Given the description of an element on the screen output the (x, y) to click on. 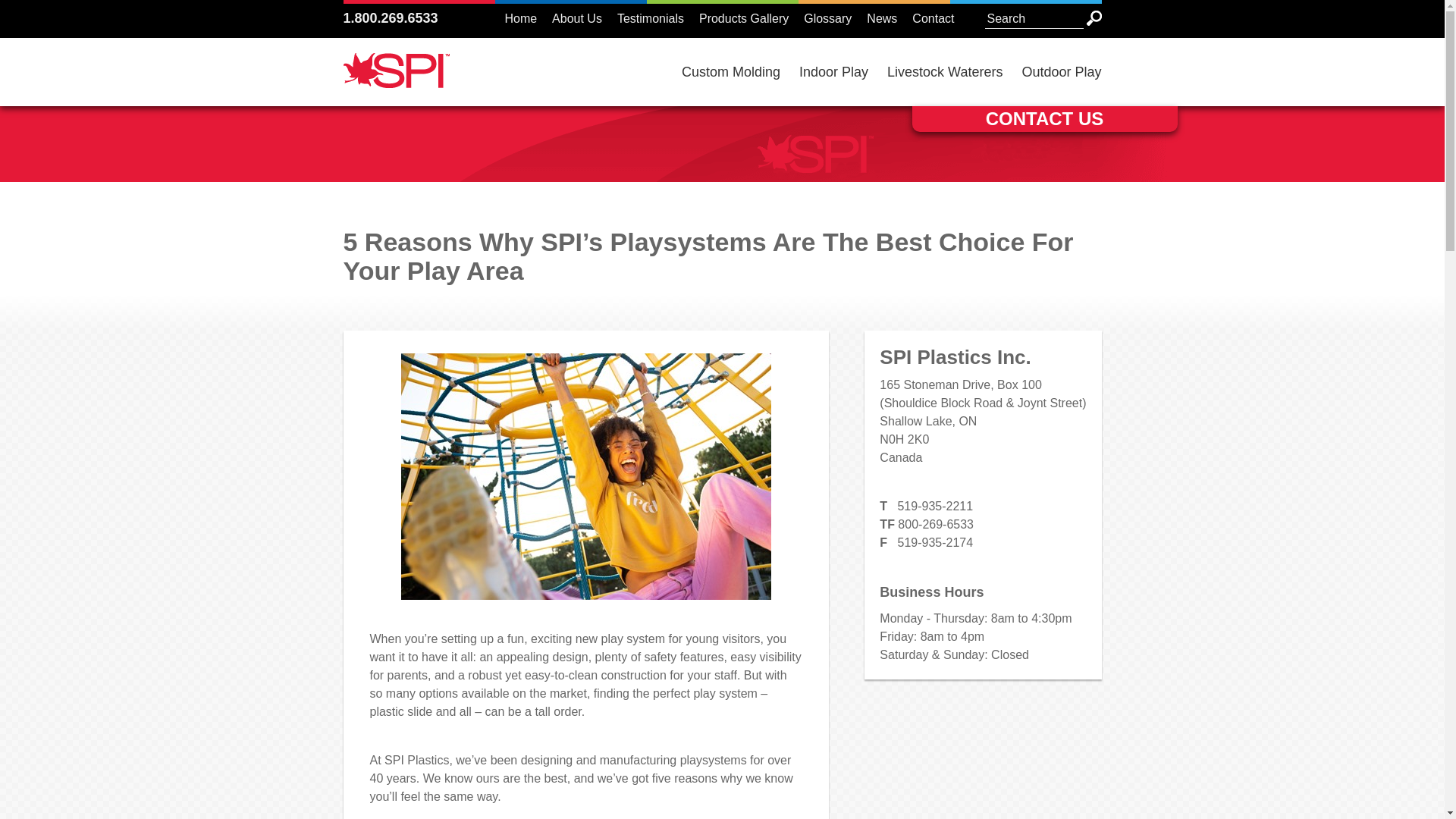
Contact (932, 18)
Search (1093, 17)
About Us (576, 18)
Products Gallery (743, 18)
Go to HomePage (395, 78)
Custom Molding (730, 71)
Home (520, 18)
Glossary (827, 18)
News (881, 18)
1.800.269.6533 (390, 18)
